Given the description of an element on the screen output the (x, y) to click on. 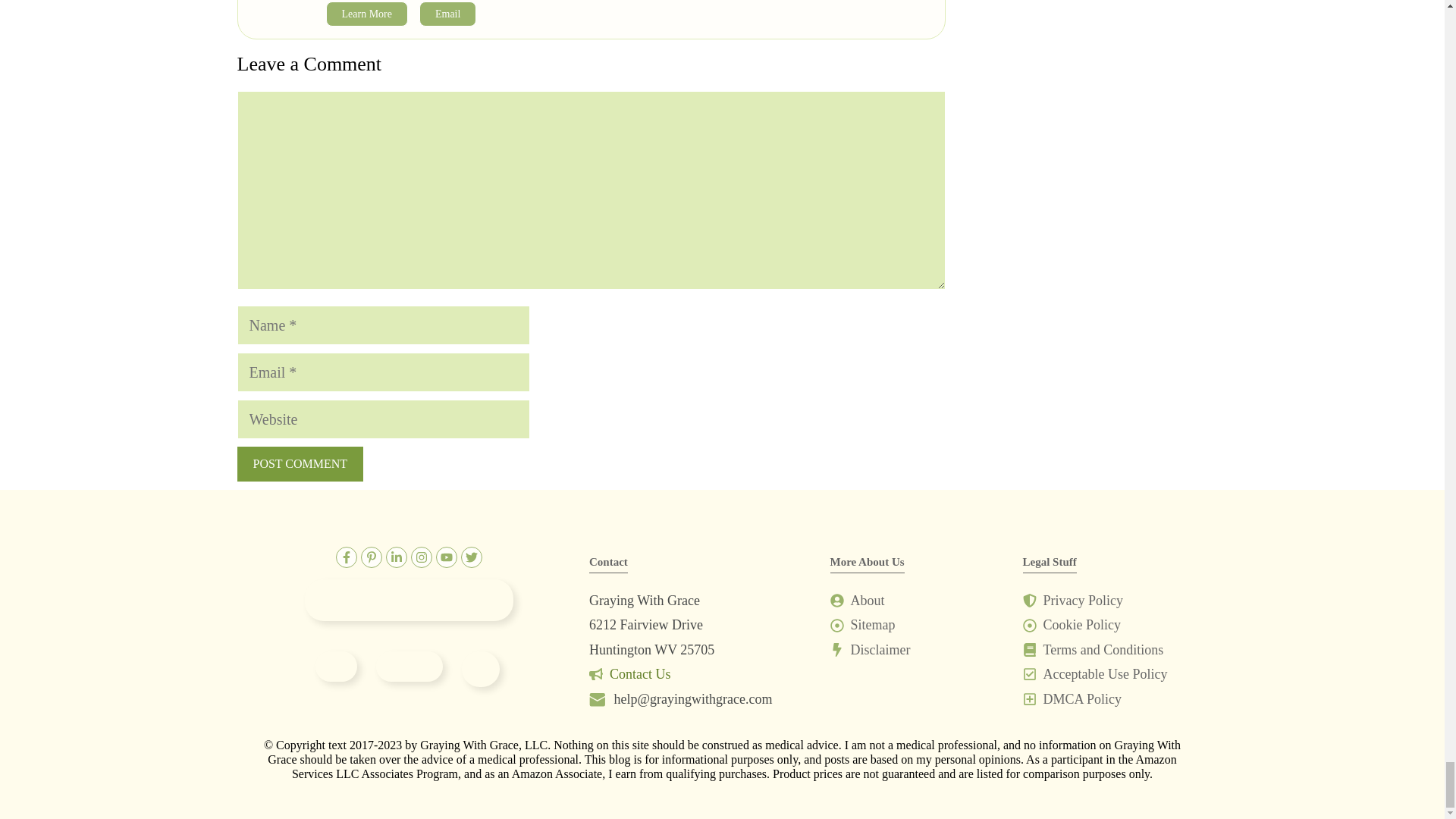
Site Logo (408, 599)
resna-atp-logo-1 (408, 666)
Post Comment (298, 463)
certified senior home safety specialist 50 (480, 669)
